Given the description of an element on the screen output the (x, y) to click on. 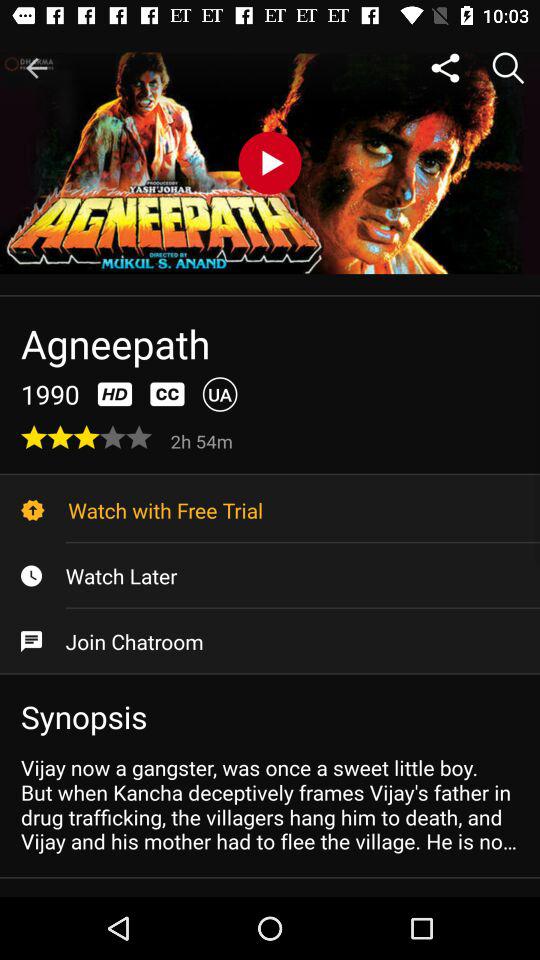
open the join chatroom item (270, 641)
